Given the description of an element on the screen output the (x, y) to click on. 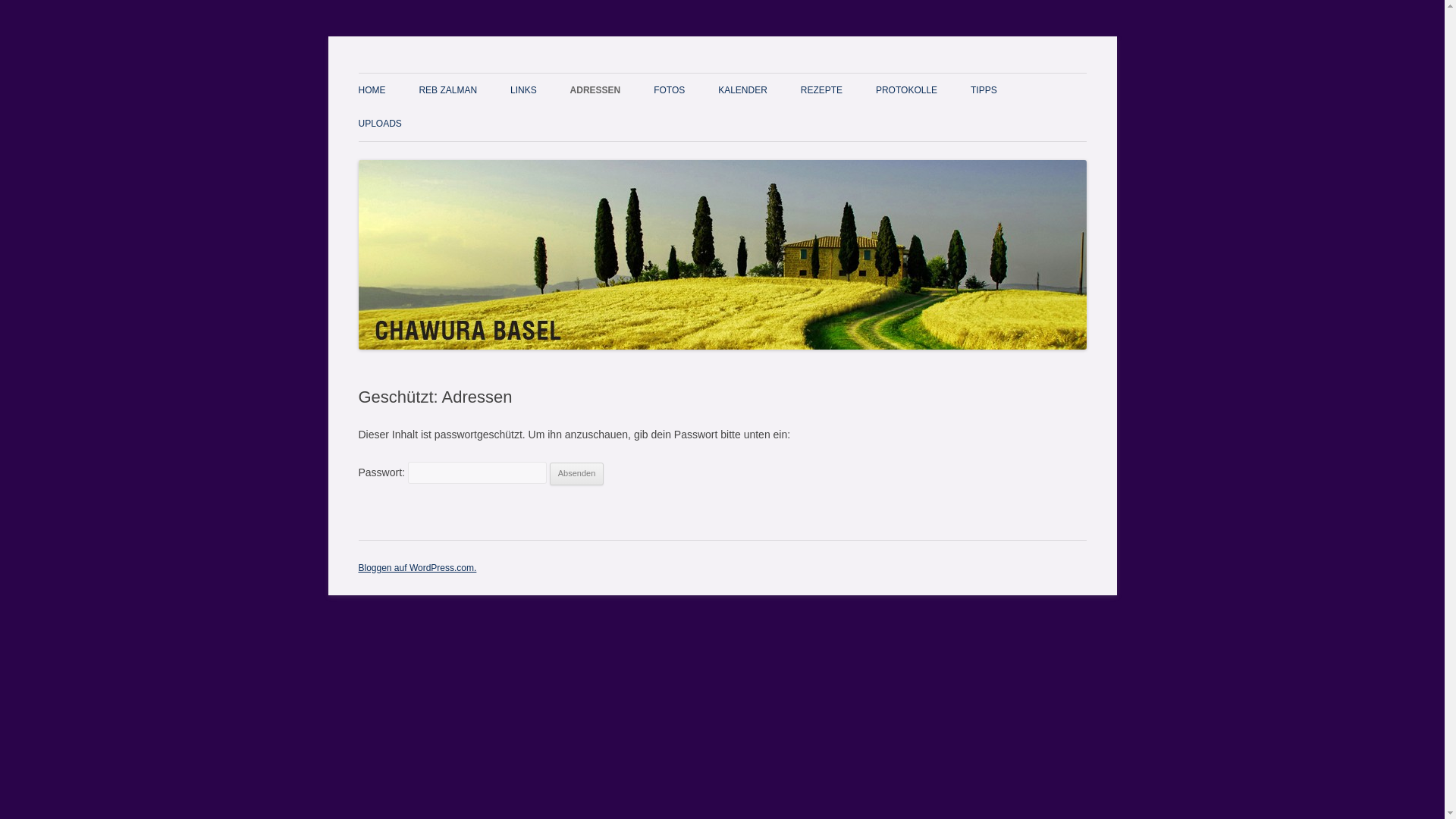
Zum Inhalt springen Element type: text (721, 72)
HOME Element type: text (371, 89)
UPLOADS Element type: text (379, 123)
KALENDER Element type: text (742, 89)
LINKS Element type: text (523, 89)
FOTOS Element type: text (668, 89)
PROTOKOLLE Element type: text (906, 89)
REZEPTE Element type: text (821, 89)
REB ZALMAN Element type: text (447, 89)
ADRESSEN Element type: text (595, 89)
Absenden Element type: text (576, 473)
TIPPS Element type: text (983, 89)
Chawura Element type: text (399, 72)
Bloggen auf WordPress.com. Element type: text (416, 567)
